Given the description of an element on the screen output the (x, y) to click on. 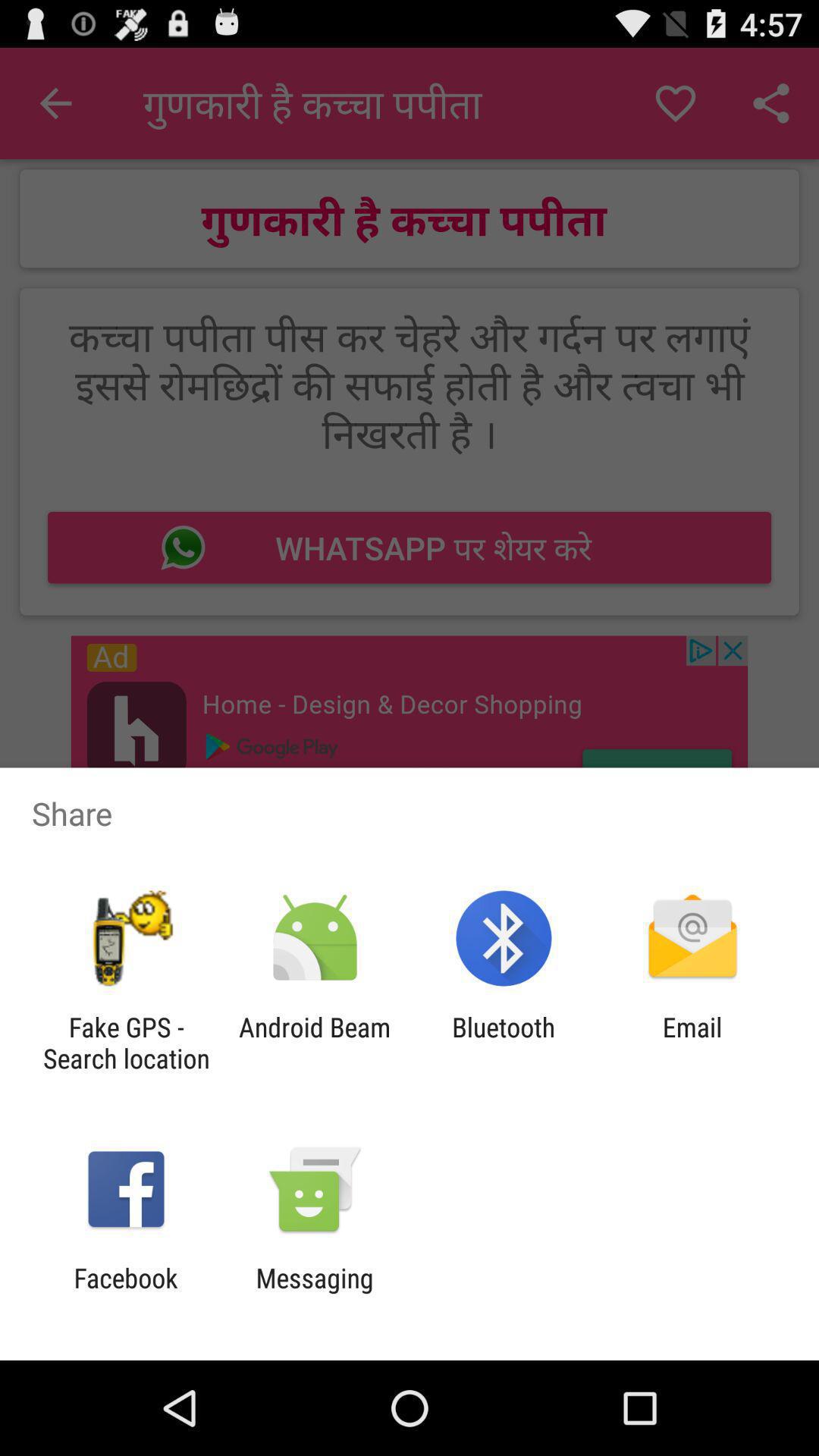
choose the item to the left of android beam item (125, 1042)
